Given the description of an element on the screen output the (x, y) to click on. 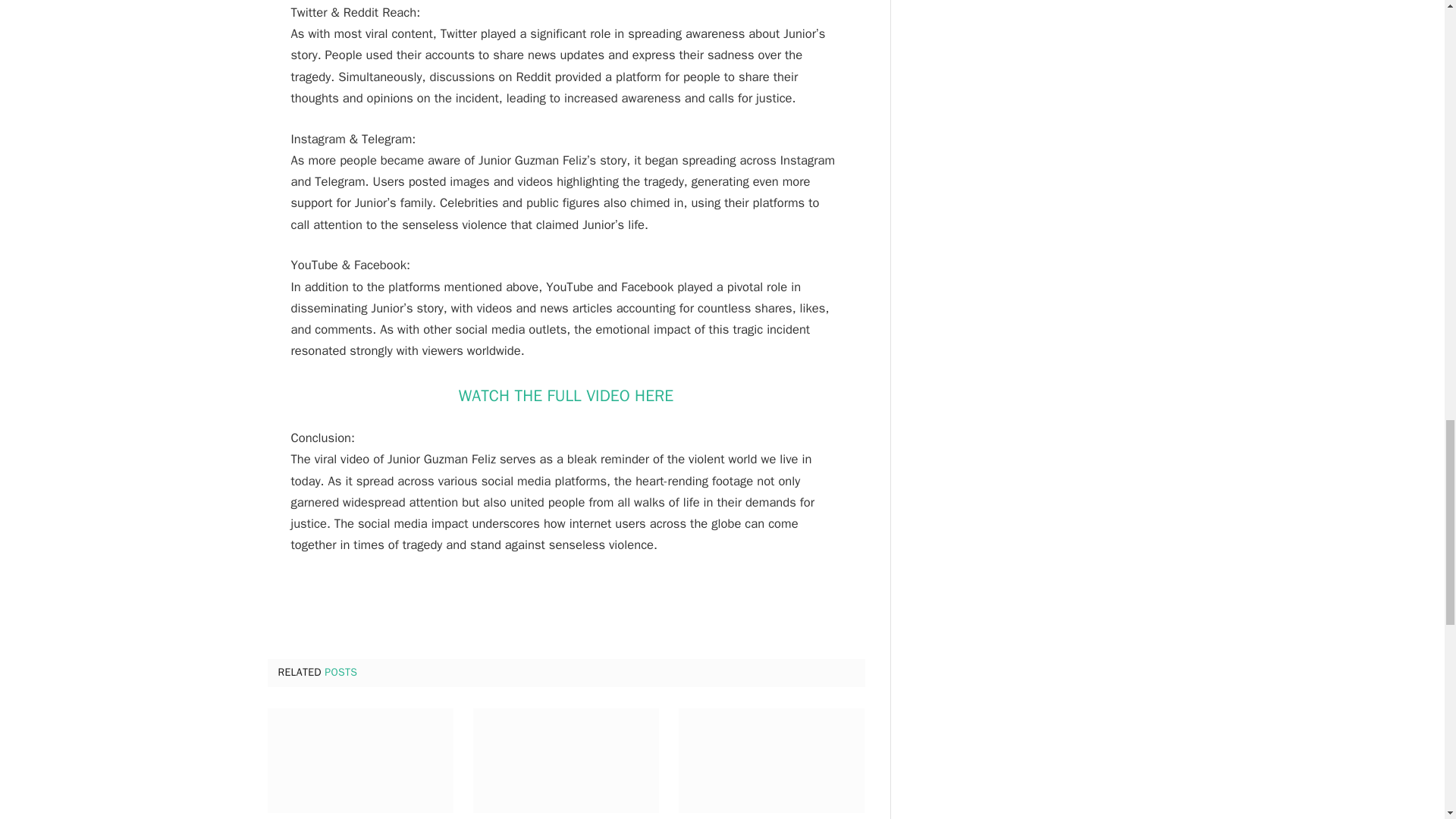
WATCH THE FULL VIDEO HERE (565, 394)
